Given the description of an element on the screen output the (x, y) to click on. 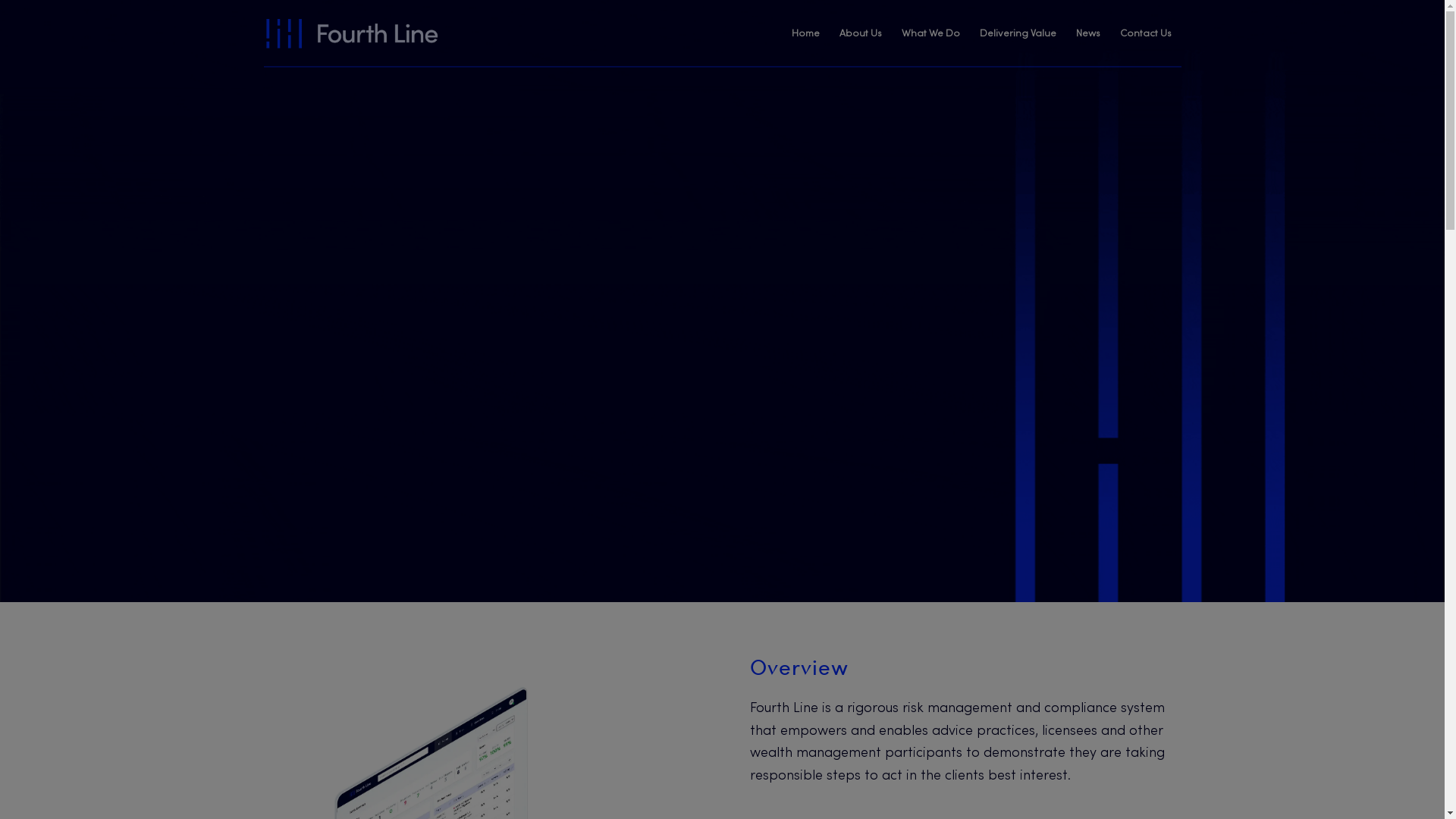
Delivering Value Element type: text (1017, 33)
Contact Us Element type: text (1145, 33)
News Element type: text (1088, 33)
About Us Element type: text (860, 33)
Home Element type: text (804, 33)
What We Do Element type: text (930, 33)
logo-web-light Element type: hover (351, 32)
